Given the description of an element on the screen output the (x, y) to click on. 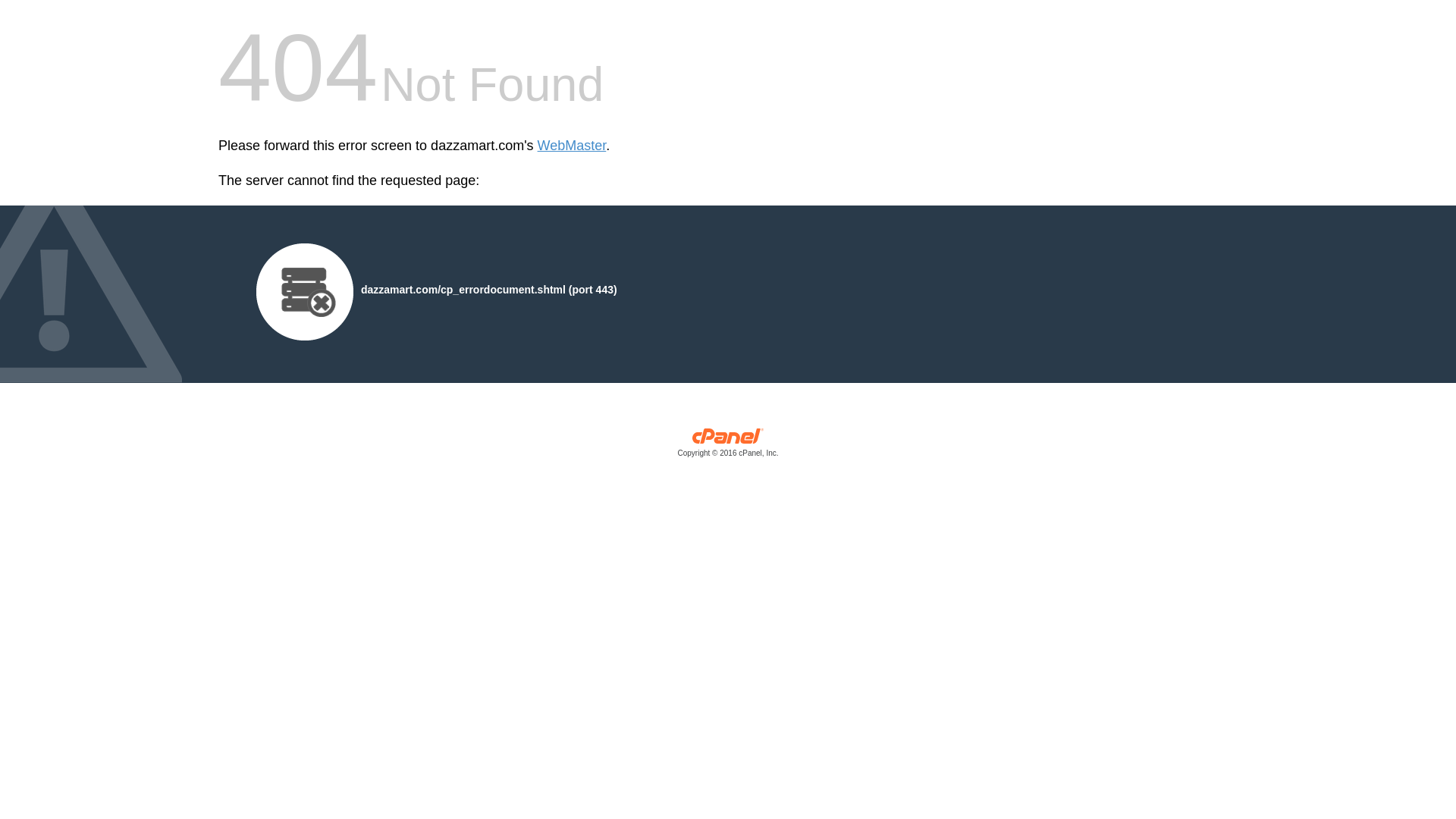
WebMaster (572, 145)
cPanel, Inc. (727, 446)
